Given the description of an element on the screen output the (x, y) to click on. 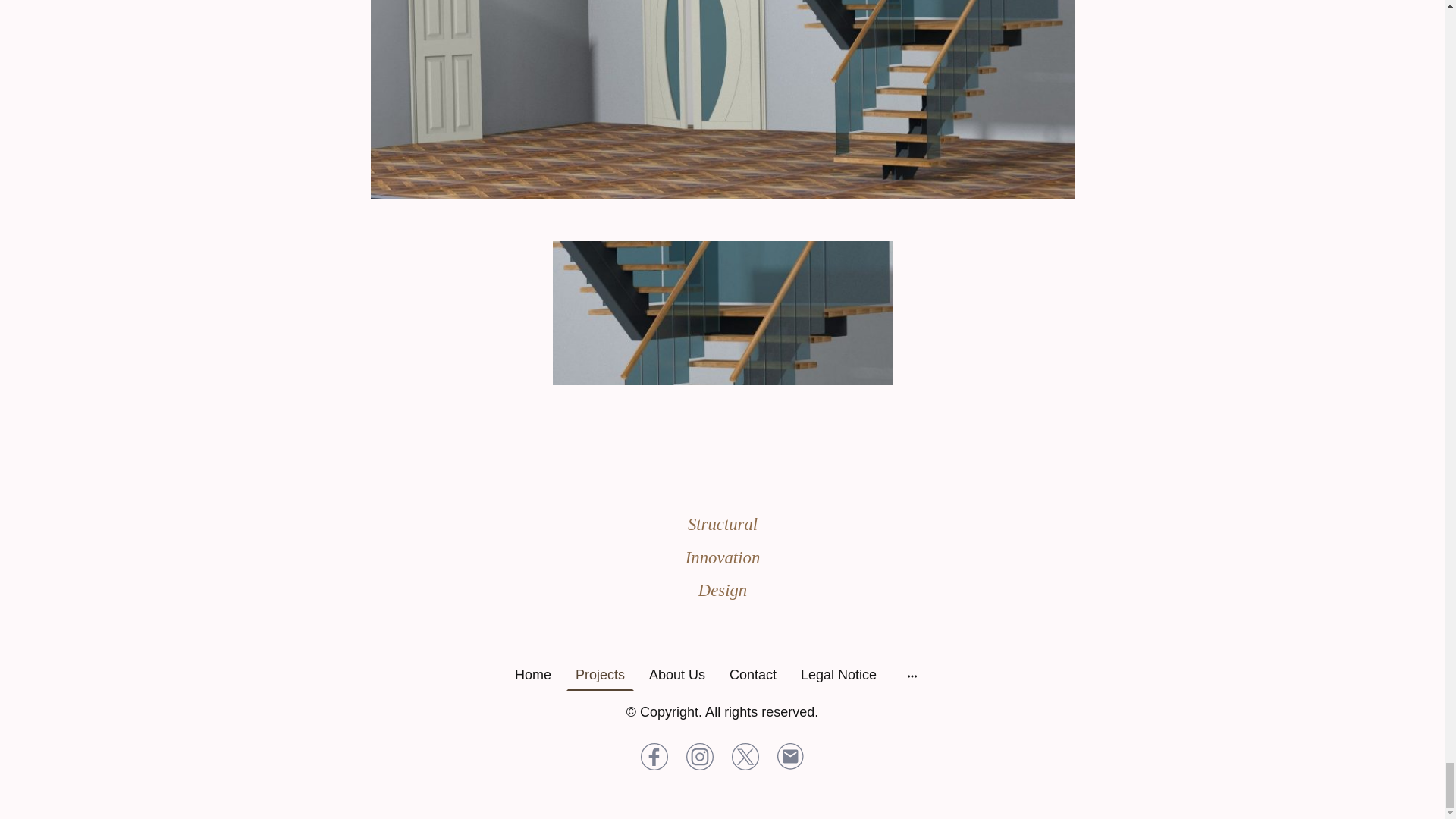
About Us (677, 674)
Structural Innovation Design (721, 621)
Projects (599, 674)
Contact (753, 674)
Home (532, 674)
Legal Notice (838, 674)
